Given the description of an element on the screen output the (x, y) to click on. 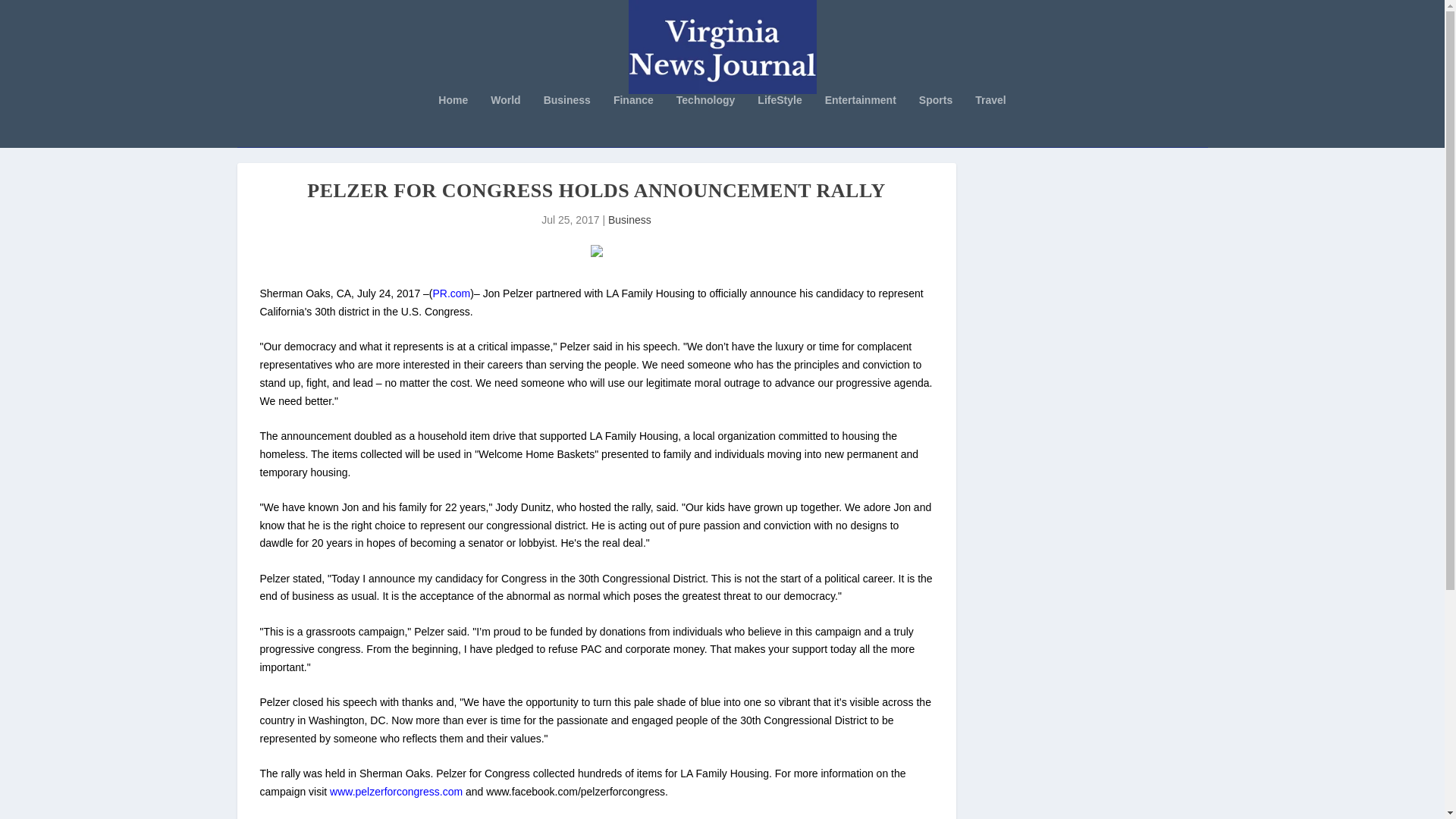
Travel (990, 120)
Home (452, 120)
Finance (632, 120)
PR.com (451, 293)
Business (567, 120)
World (504, 120)
LifeStyle (779, 120)
Technology (706, 120)
www.pelzerforcongress.com (396, 791)
Business (629, 219)
Sports (935, 120)
Entertainment (860, 120)
